Given the description of an element on the screen output the (x, y) to click on. 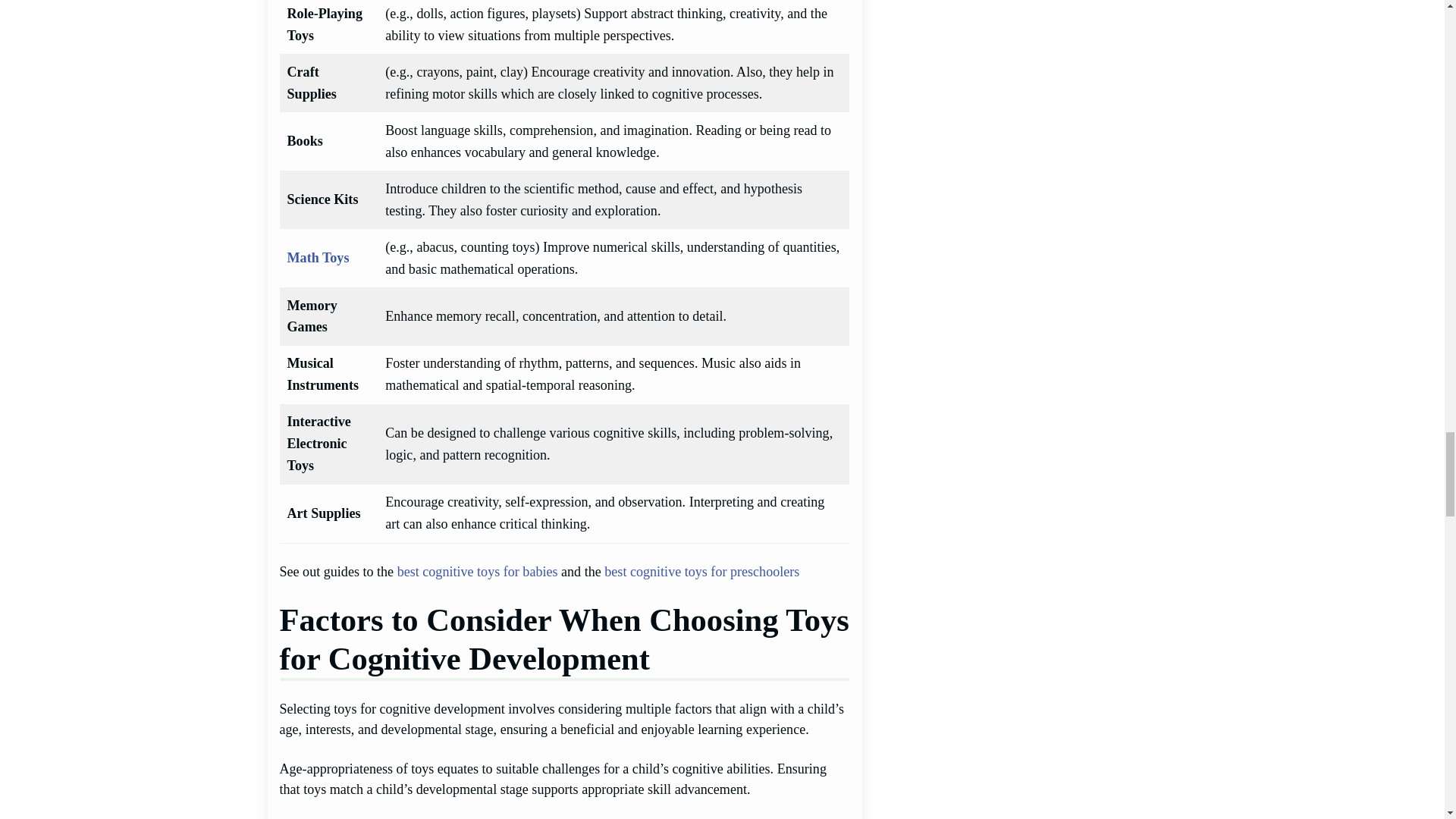
best cognitive toys for babies (477, 571)
best cognitive toys for preschoolers (701, 571)
Math Toys (317, 257)
